Given the description of an element on the screen output the (x, y) to click on. 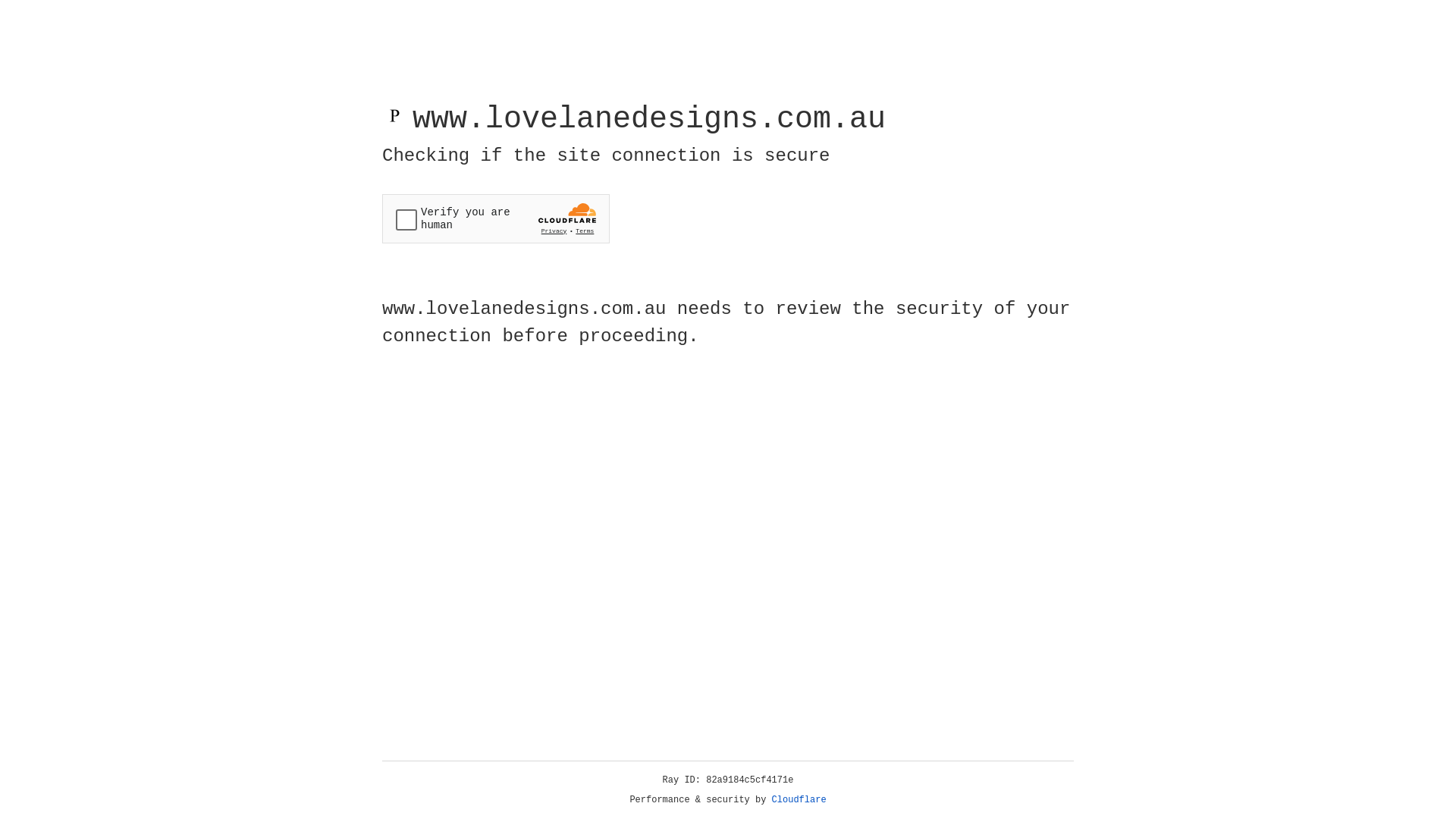
Widget containing a Cloudflare security challenge Element type: hover (495, 218)
Cloudflare Element type: text (798, 799)
